Given the description of an element on the screen output the (x, y) to click on. 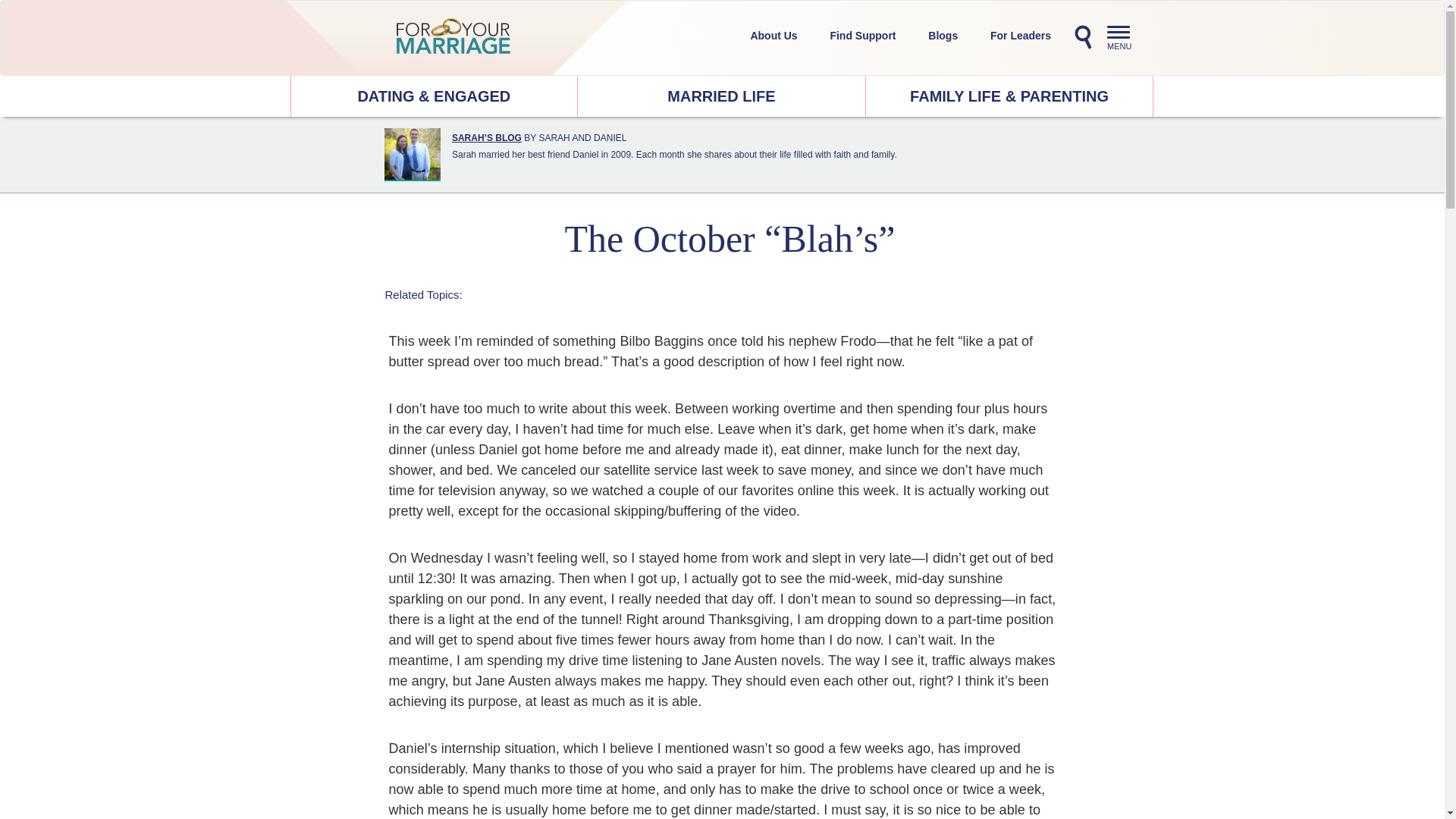
For Your Marriage (452, 36)
Find Support (862, 35)
For Leaders (1020, 35)
MARRIED LIFE (1122, 39)
Blogs (721, 96)
About Us (943, 35)
